Given the description of an element on the screen output the (x, y) to click on. 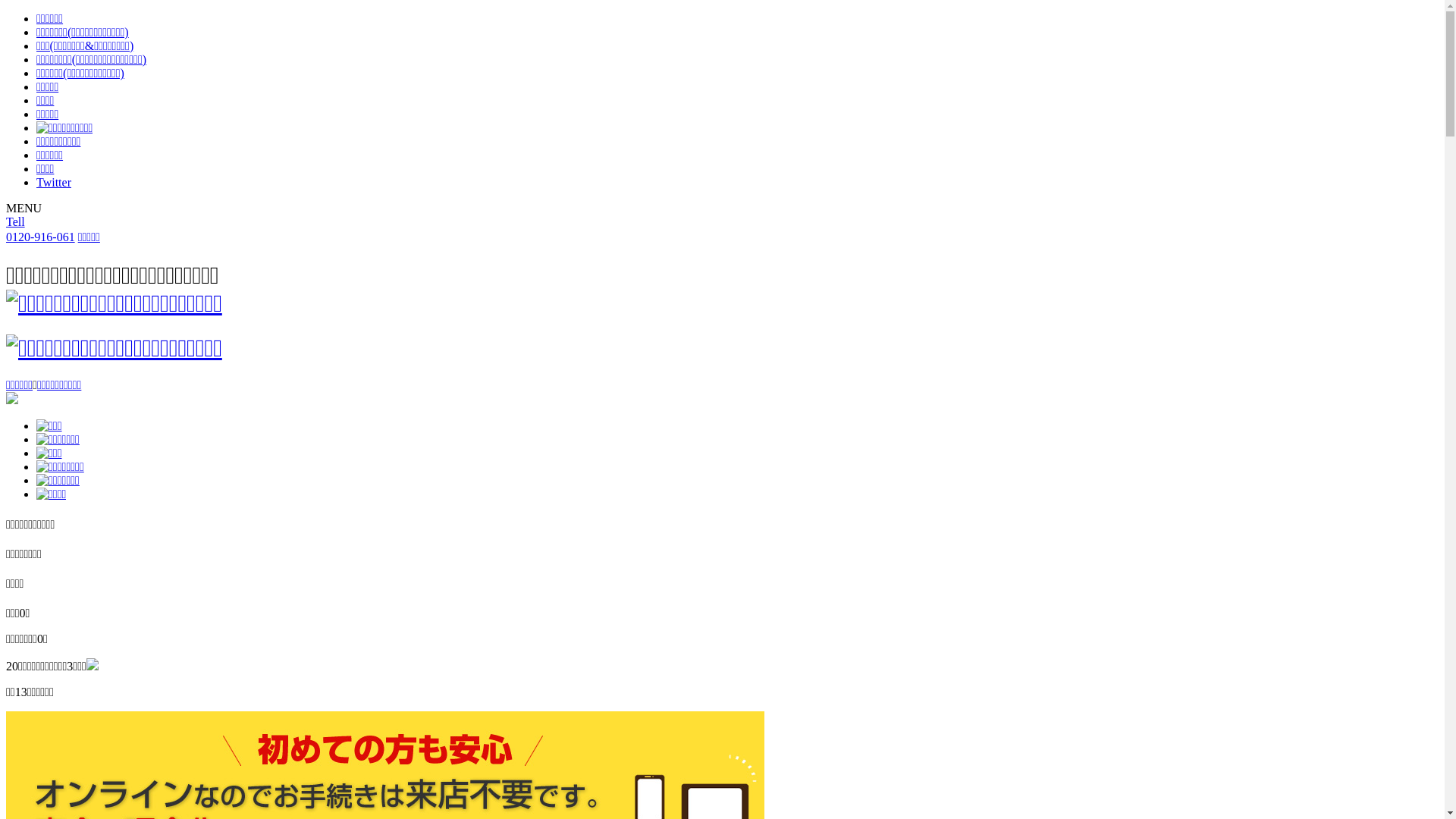
Tell
0120-916-061 Element type: text (40, 229)
Twitter Element type: text (53, 181)
